Given the description of an element on the screen output the (x, y) to click on. 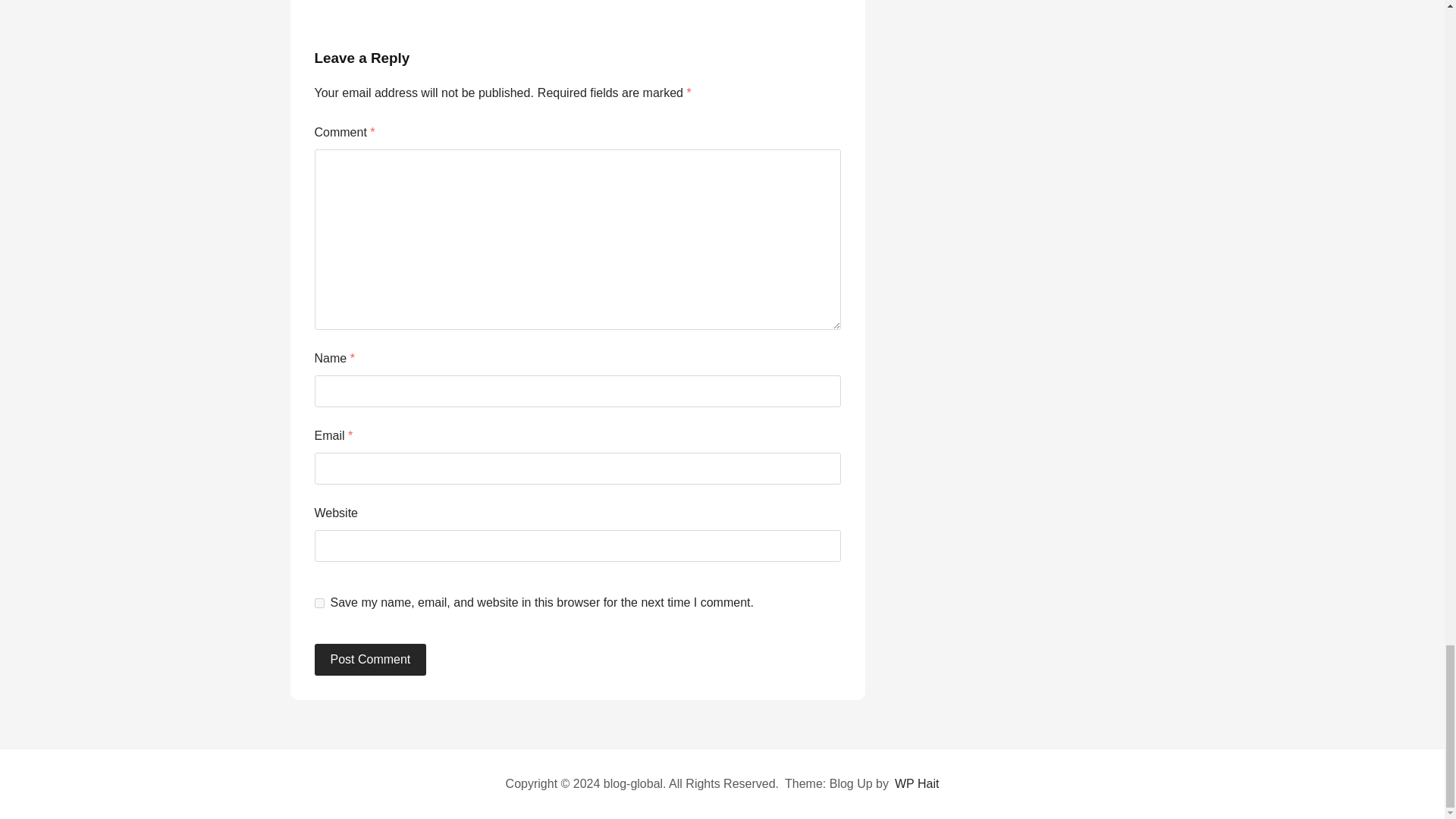
Post Comment (370, 659)
yes (318, 603)
Post Comment (370, 659)
